Given the description of an element on the screen output the (x, y) to click on. 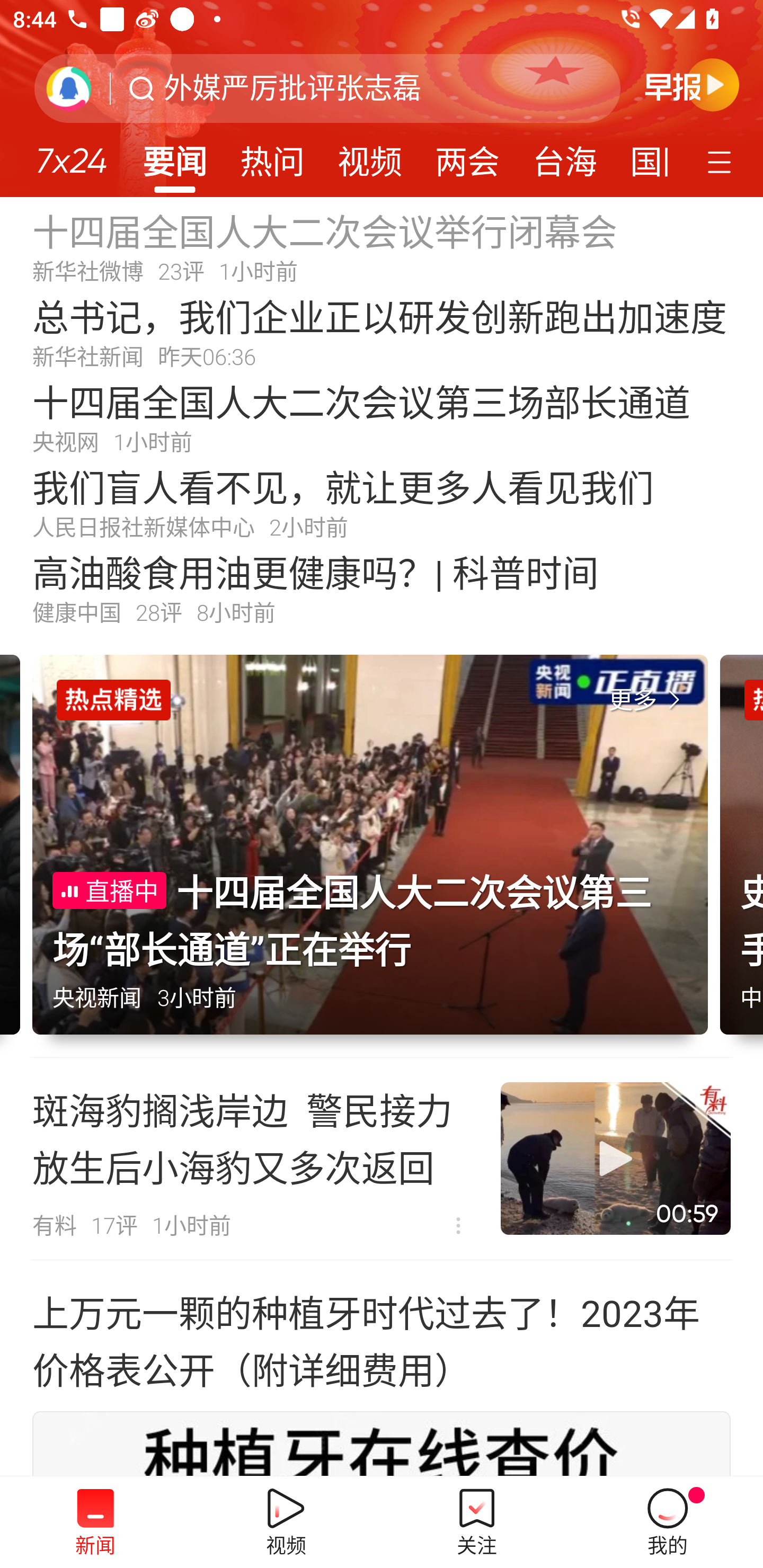
腾讯新闻 (381, 98)
早晚报 (691, 84)
刷新 (68, 88)
外媒严厉批评张志磊 (292, 88)
7x24 (70, 154)
要闻 (174, 155)
热问 (272, 155)
视频 (369, 155)
两会 (466, 155)
台海 (564, 155)
 定制频道 (721, 160)
十四届全国人大二次会议举行闭幕会 新华社微博 23评 1小时前 (381, 245)
总书记，我们企业正以研发创新跑出加速度 新华社新闻 昨天06:36 (381, 331)
十四届全国人大二次会议第三场部长通道 央视网 1小时前 (381, 416)
我们盲人看不见，就让更多人看见我们 人民日报社新媒体中心 2小时前 (381, 502)
高油酸食用油更健康吗？| 科普时间 健康中国 28评 8小时前 (381, 587)
更多   十四届全国人大二次会议第三场“部长通道”正在举行 直播中 央视新闻   3小时前 (376, 855)
更多  (648, 699)
斑海豹搁浅岸边  警民接力放生后小海豹又多次返回 有料 17评 1小时前  不感兴趣 00:59 (381, 1158)
 不感兴趣 (458, 1226)
上万元一颗的种植牙时代过去了！2023年价格表公开（附详细费用） (381, 1339)
